Given the description of an element on the screen output the (x, y) to click on. 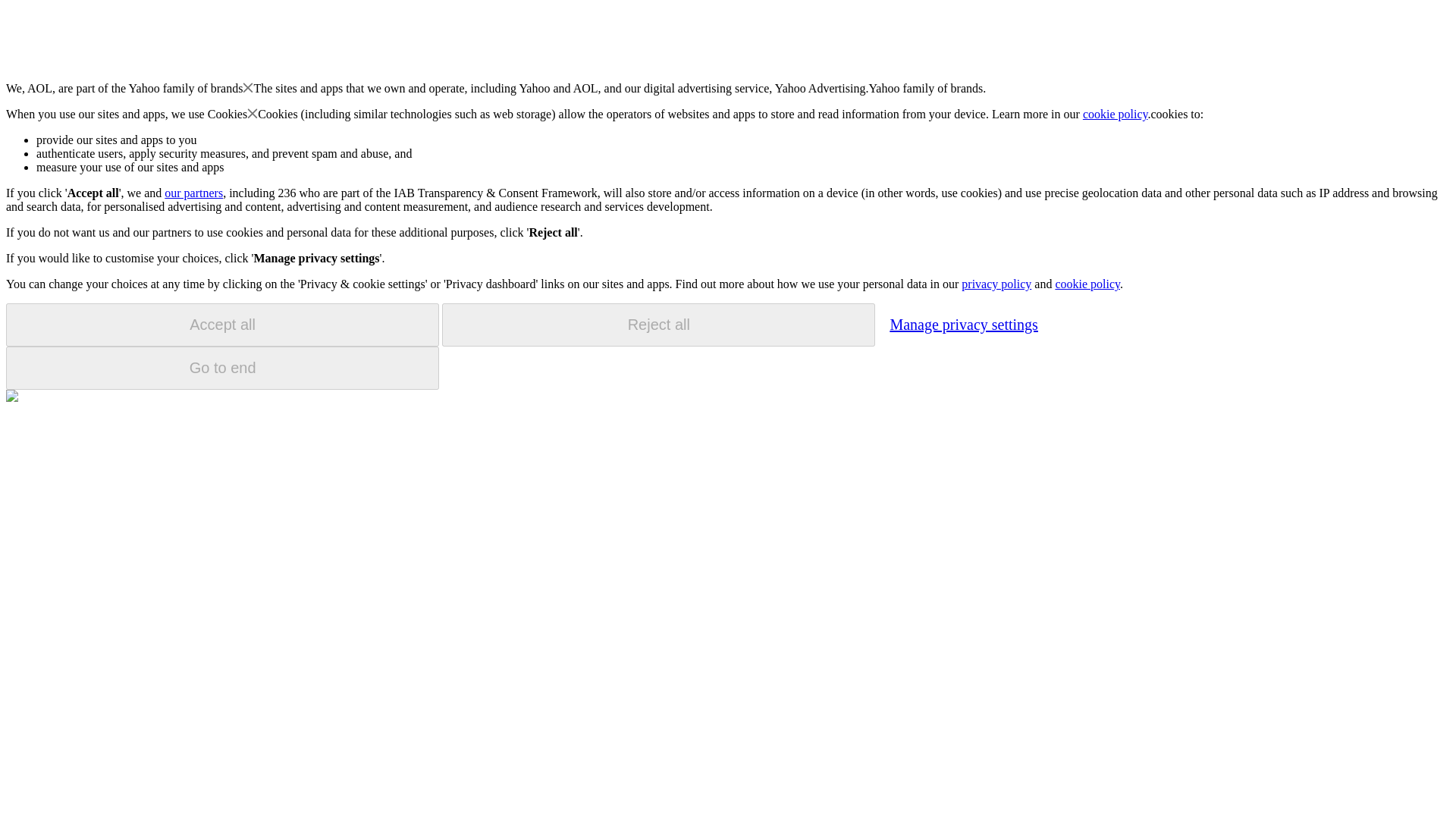
Go to end (222, 367)
cookie policy (1086, 283)
privacy policy (995, 283)
Accept all (222, 324)
Manage privacy settings (963, 323)
Reject all (658, 324)
cookie policy (1115, 113)
our partners (193, 192)
